Given the description of an element on the screen output the (x, y) to click on. 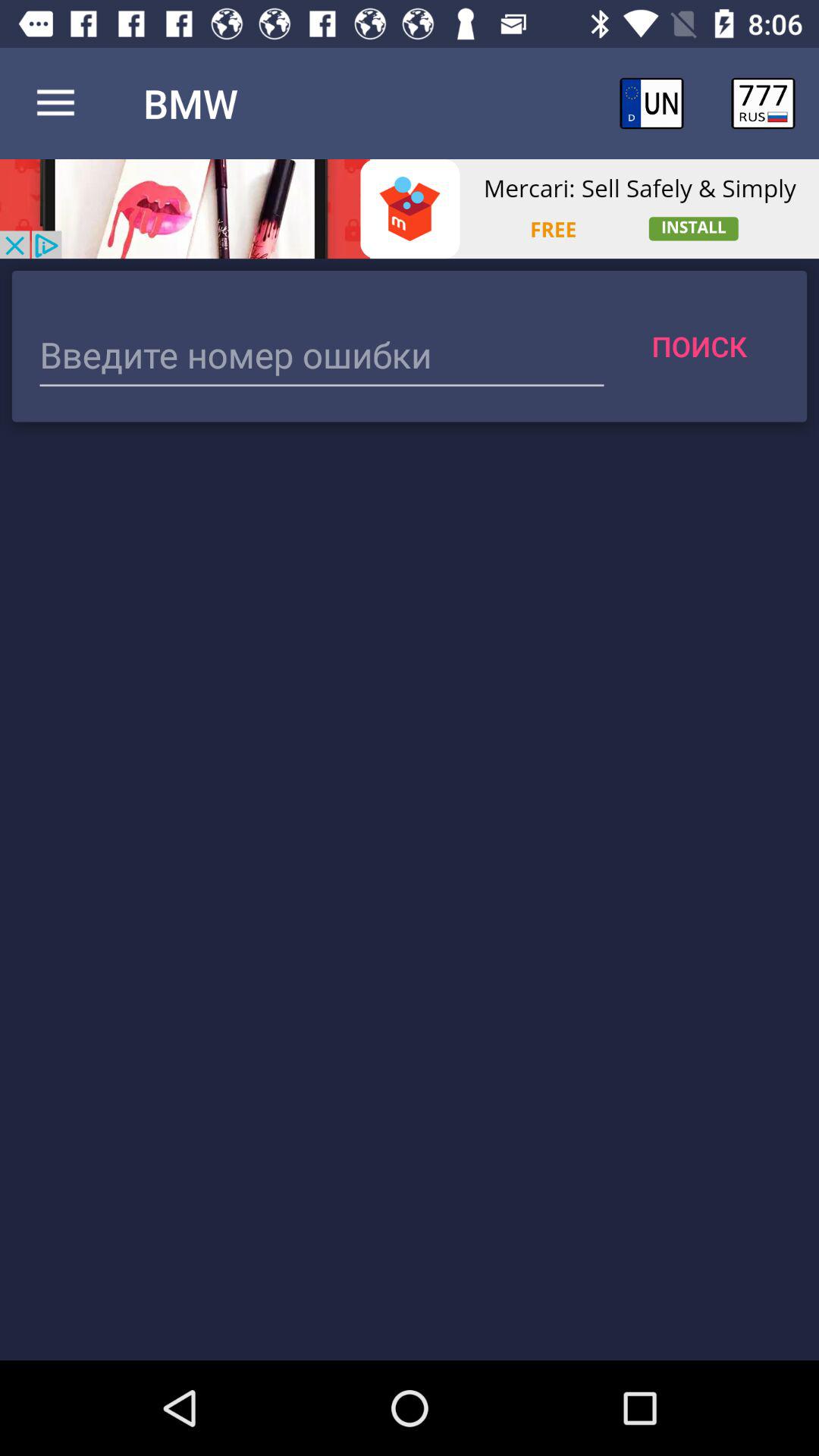
view advertisement (409, 208)
